Given the description of an element on the screen output the (x, y) to click on. 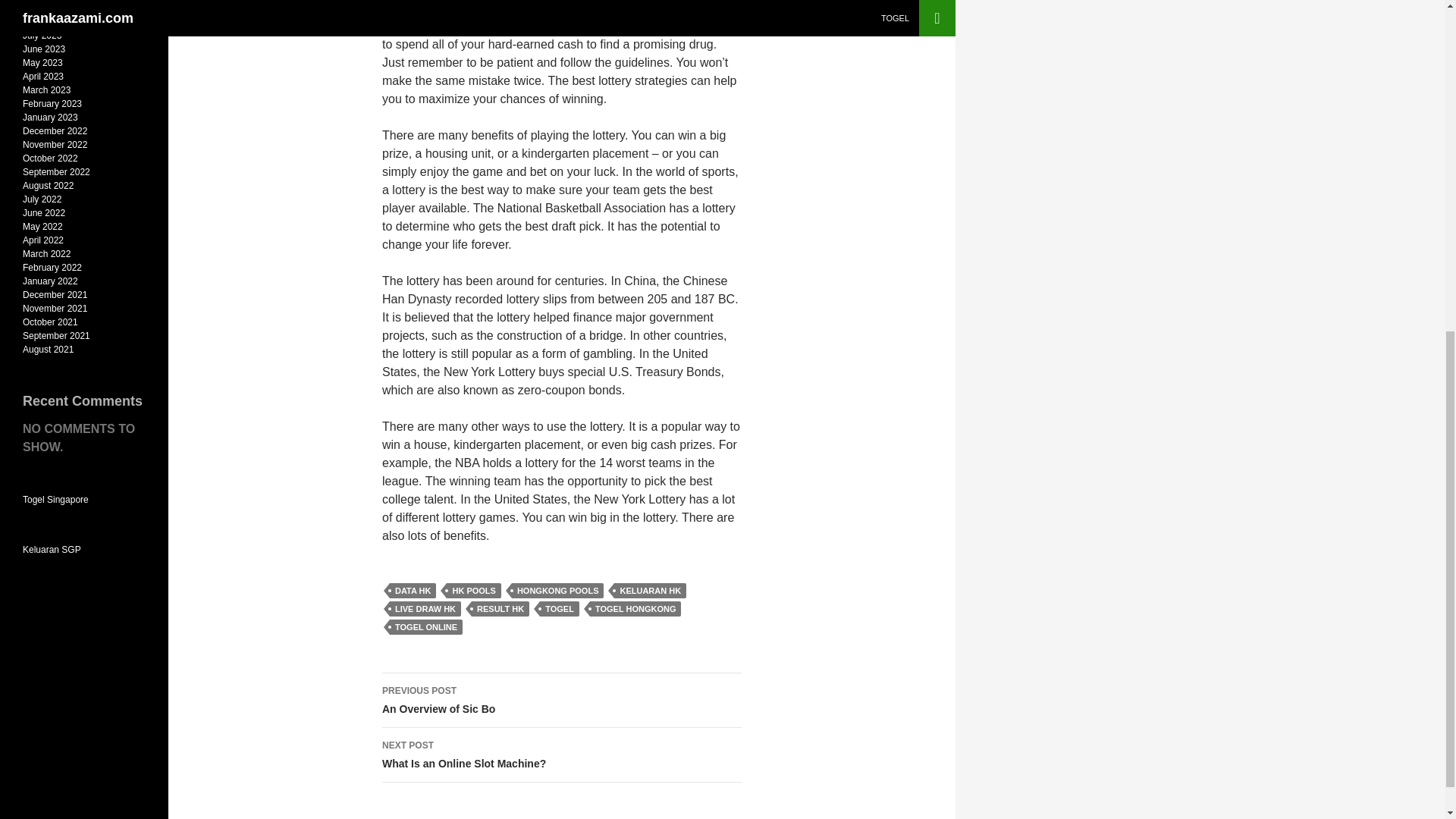
KELUARAN HK (649, 590)
TOGEL ONLINE (426, 626)
DATA HK (412, 590)
HONGKONG POOLS (558, 590)
HK POOLS (473, 590)
TOGEL (559, 608)
RESULT HK (561, 755)
TOGEL HONGKONG (561, 700)
LIVE DRAW HK (500, 608)
